Given the description of an element on the screen output the (x, y) to click on. 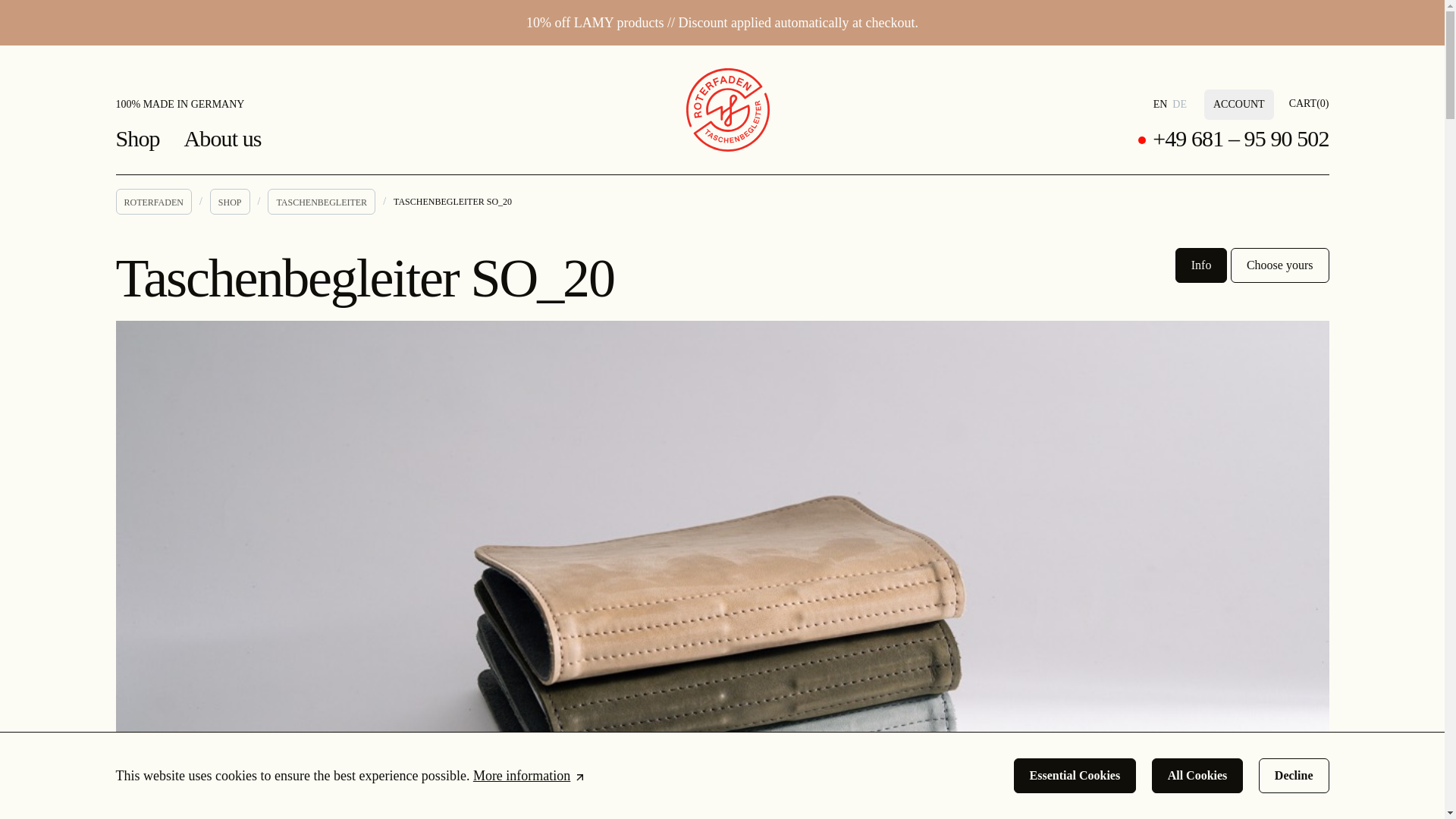
TASCHENBEGLEITER (321, 201)
ROTERFADEN (152, 201)
Shop (149, 147)
About us (234, 147)
About us (234, 147)
2fbb5fe2e29a4d70aa5854ce7ce3e20b (1158, 103)
a2f7c61413f745ec964b524835fc007d (1177, 103)
ACCOUNT (1239, 104)
SHOP (229, 201)
Shop (149, 147)
